Given the description of an element on the screen output the (x, y) to click on. 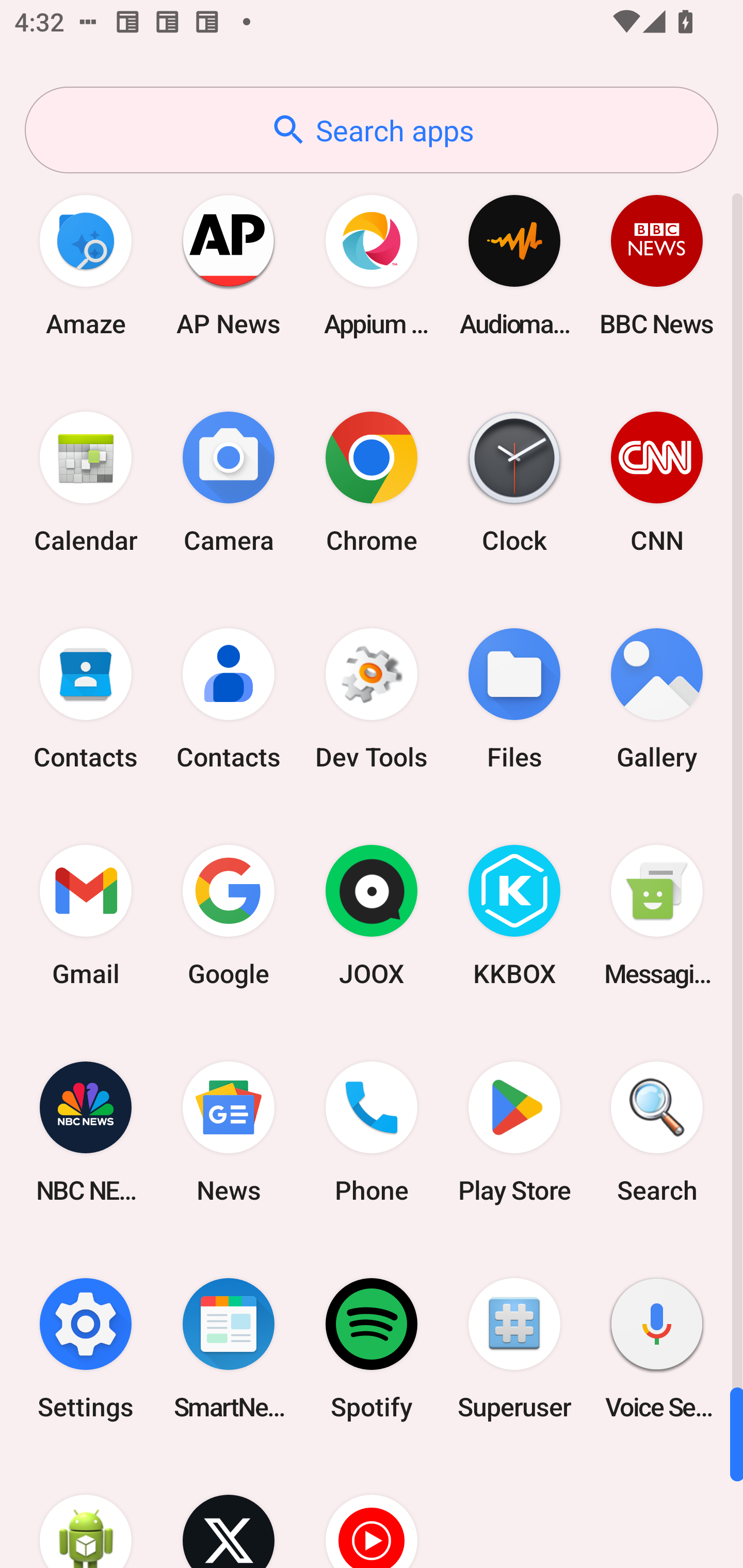
  Search apps (371, 130)
Amaze (85, 264)
AP News (228, 264)
Appium Settings (371, 264)
Audio­mack (514, 264)
BBC News (656, 264)
Calendar (85, 482)
Camera (228, 482)
Chrome (371, 482)
Clock (514, 482)
CNN (656, 482)
Contacts (85, 699)
Contacts (228, 699)
Dev Tools (371, 699)
Files (514, 699)
Gallery (656, 699)
Gmail (85, 915)
Google (228, 915)
JOOX (371, 915)
KKBOX (514, 915)
Messaging (656, 915)
NBC NEWS (85, 1131)
News (228, 1131)
Phone (371, 1131)
Play Store (514, 1131)
Search (656, 1131)
Settings (85, 1348)
SmartNews (228, 1348)
Spotify (371, 1348)
Superuser (514, 1348)
Voice Search (656, 1348)
WebView Browser Tester (85, 1512)
X (228, 1512)
YT Music (371, 1512)
